Given the description of an element on the screen output the (x, y) to click on. 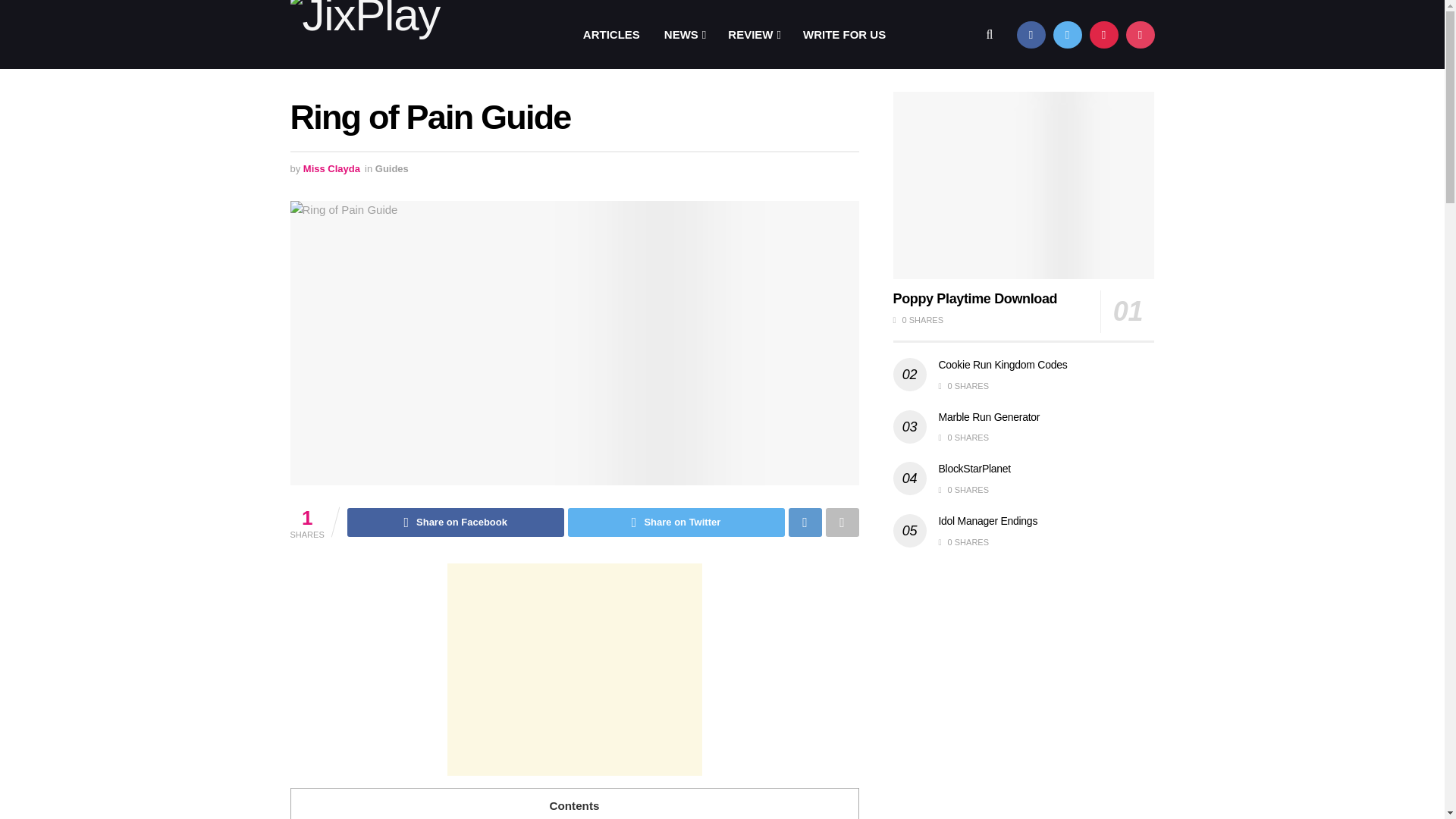
WRITE FOR US (844, 34)
REVIEW (753, 34)
ARTICLES (611, 34)
NEWS (684, 34)
